Given the description of an element on the screen output the (x, y) to click on. 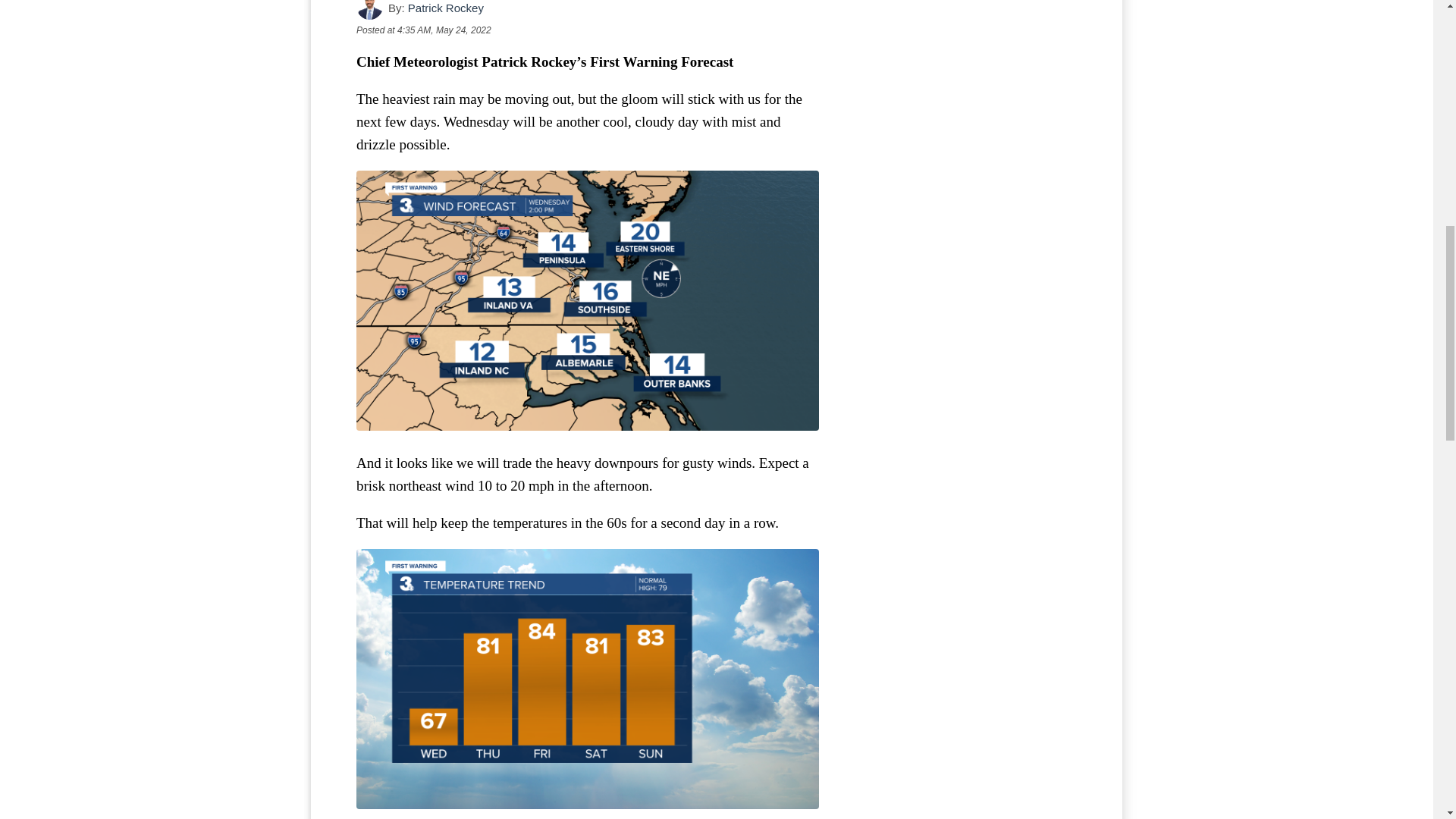
3rd party ad content (962, 66)
